Given the description of an element on the screen output the (x, y) to click on. 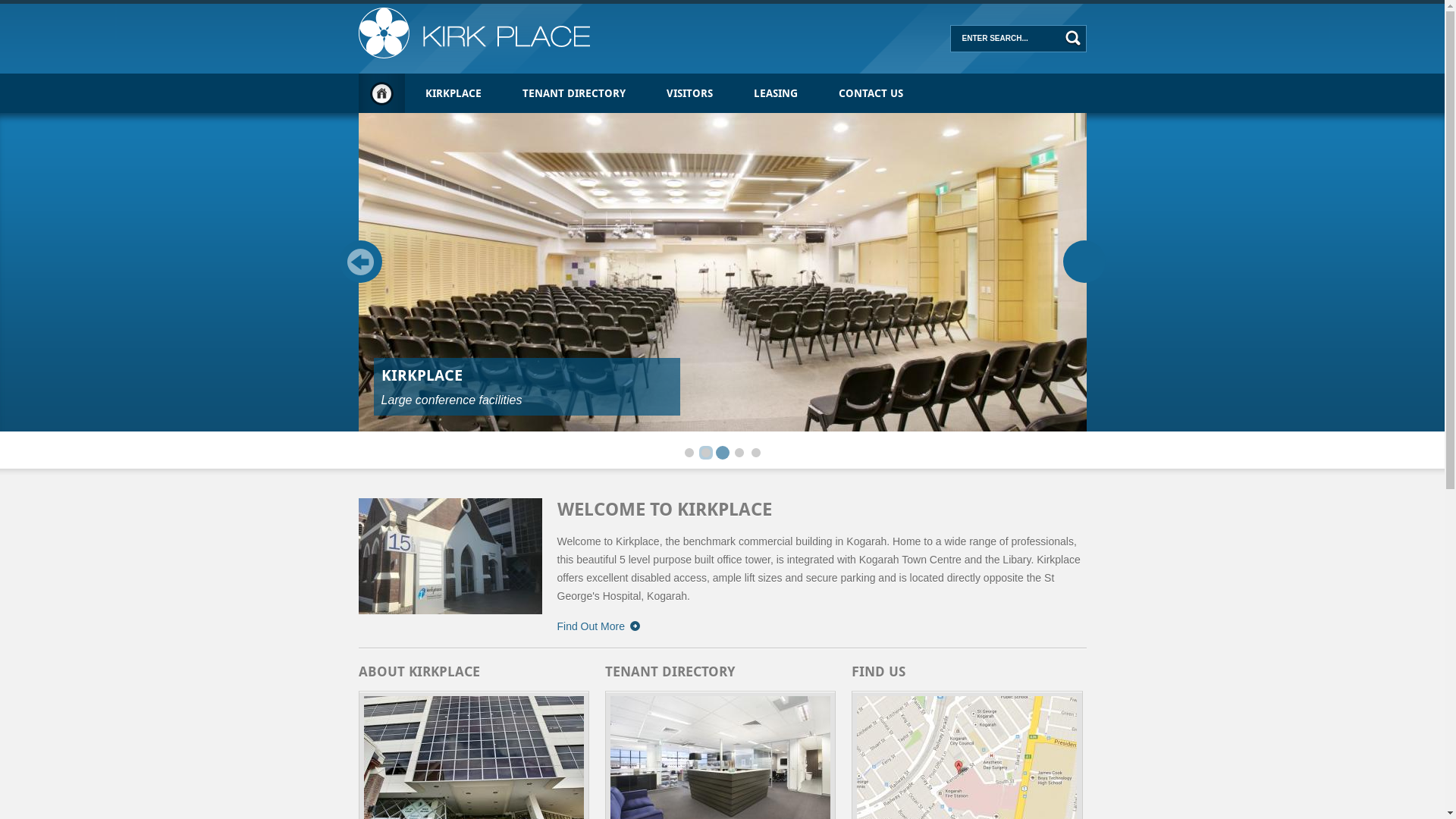
2 Element type: text (705, 452)
HOME Element type: text (380, 92)
Find Out More Element type: text (605, 626)
1 Element type: text (689, 452)
Next Element type: text (1084, 261)
4 Element type: text (739, 452)
KIRKPLACE Element type: text (453, 92)
3 Element type: text (722, 452)
5 Element type: text (755, 452)
TENANT DIRECTORY Element type: text (574, 92)
CONTACT US Element type: text (869, 92)
LEASING Element type: text (774, 92)
Prev Element type: text (360, 261)
Welcome to Kirkplace Element type: hover (449, 556)
VISITORS Element type: text (689, 92)
